Given the description of an element on the screen output the (x, y) to click on. 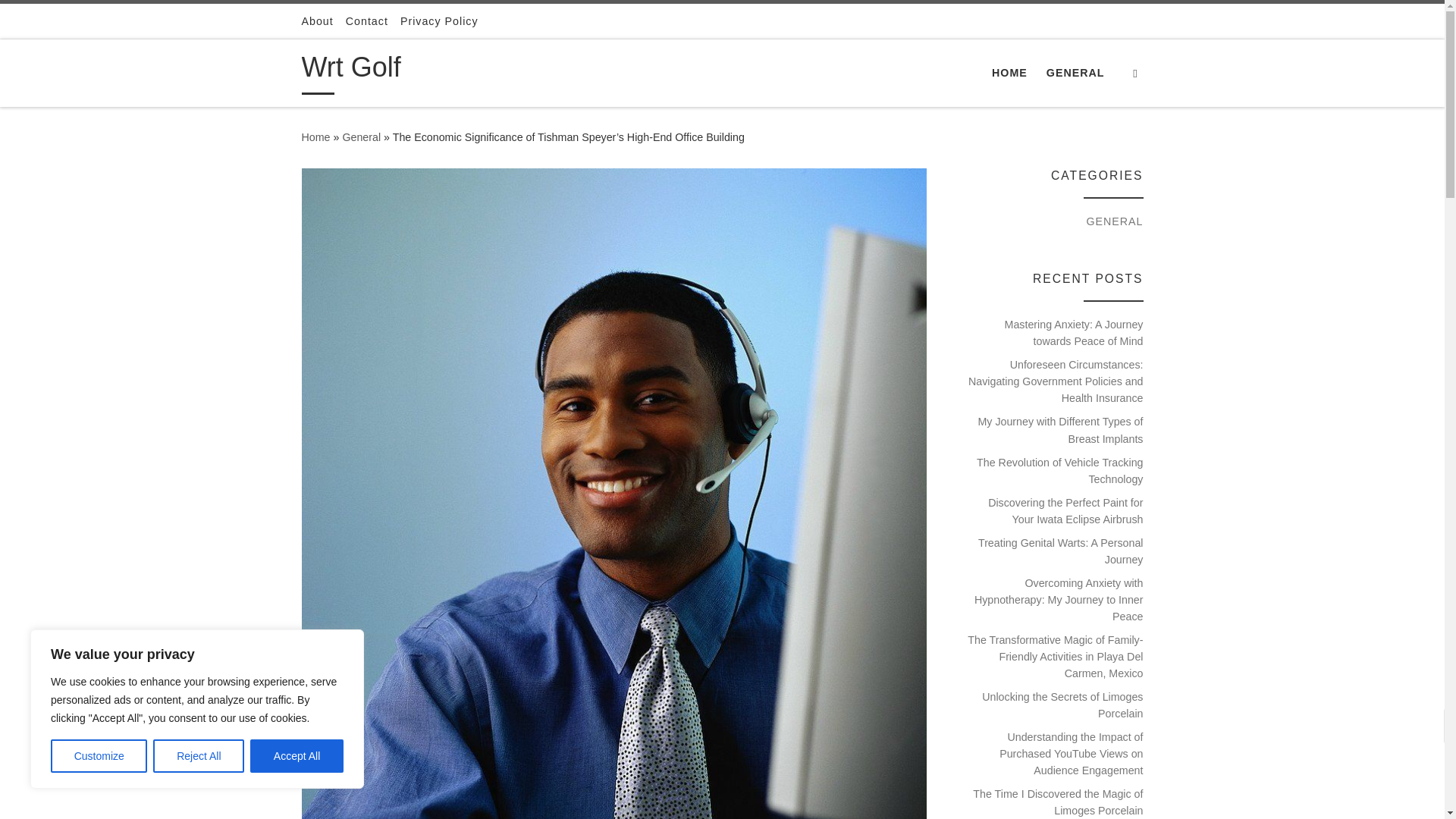
Reject All (198, 756)
Skip to content (60, 20)
General (361, 137)
Customize (98, 756)
Home (315, 137)
General (361, 137)
Contact (366, 21)
Privacy Policy (439, 21)
Wrt Golf (351, 70)
About (317, 21)
